Given the description of an element on the screen output the (x, y) to click on. 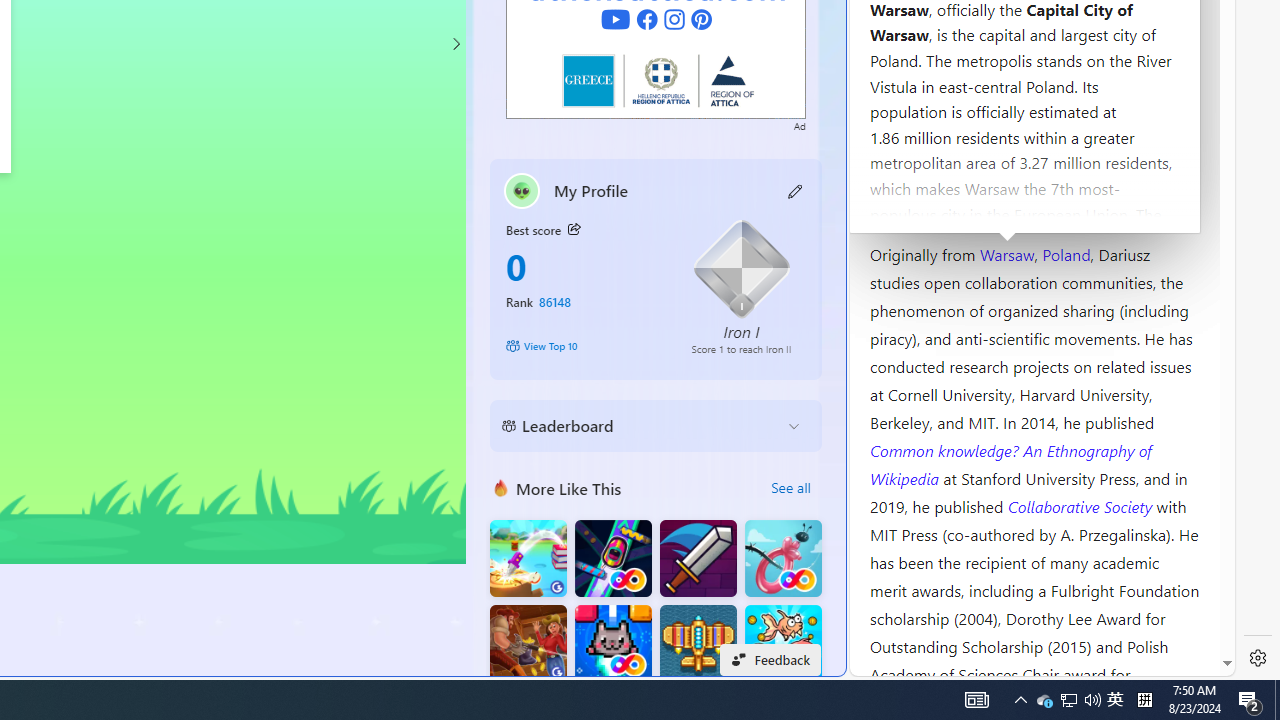
MSN (687, 223)
Class: button edit-icon (795, 190)
View Top 10 (584, 345)
Ad (799, 124)
Kozminski University (1034, 136)
""'s avatar (522, 190)
Collaborative Society  (1082, 505)
Fish Merge FRVR (783, 643)
Class: control (455, 43)
Global web icon (888, 663)
Warsaw (1006, 253)
Favorites (343, 482)
google_privacy_policy_zh-CN.pdf (687, 482)
